Given the description of an element on the screen output the (x, y) to click on. 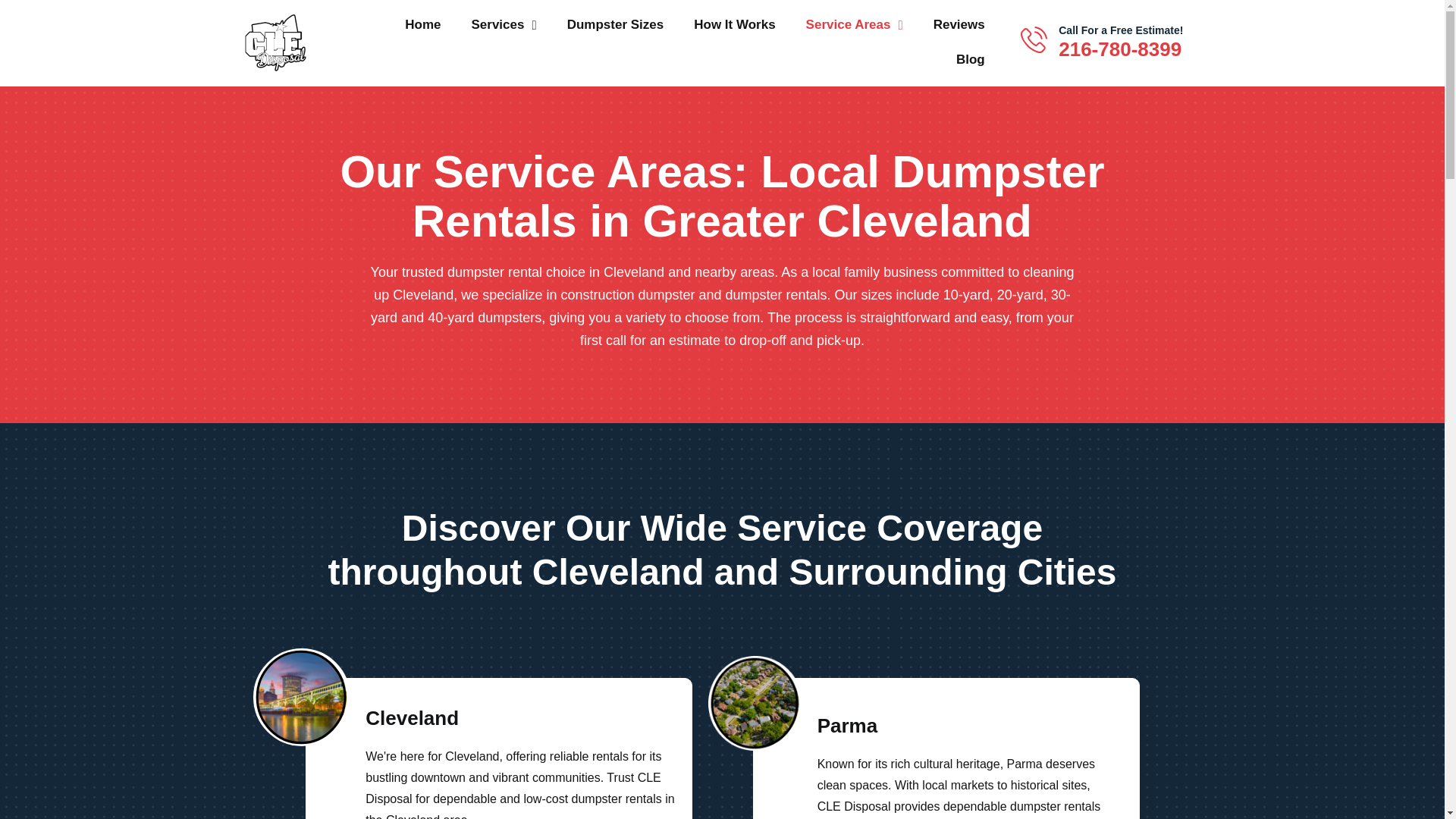
Home (422, 24)
Blog (970, 59)
Reviews (959, 24)
Service Areas (854, 24)
Services (504, 24)
How It Works (734, 24)
Dumpster Sizes (615, 24)
